Given the description of an element on the screen output the (x, y) to click on. 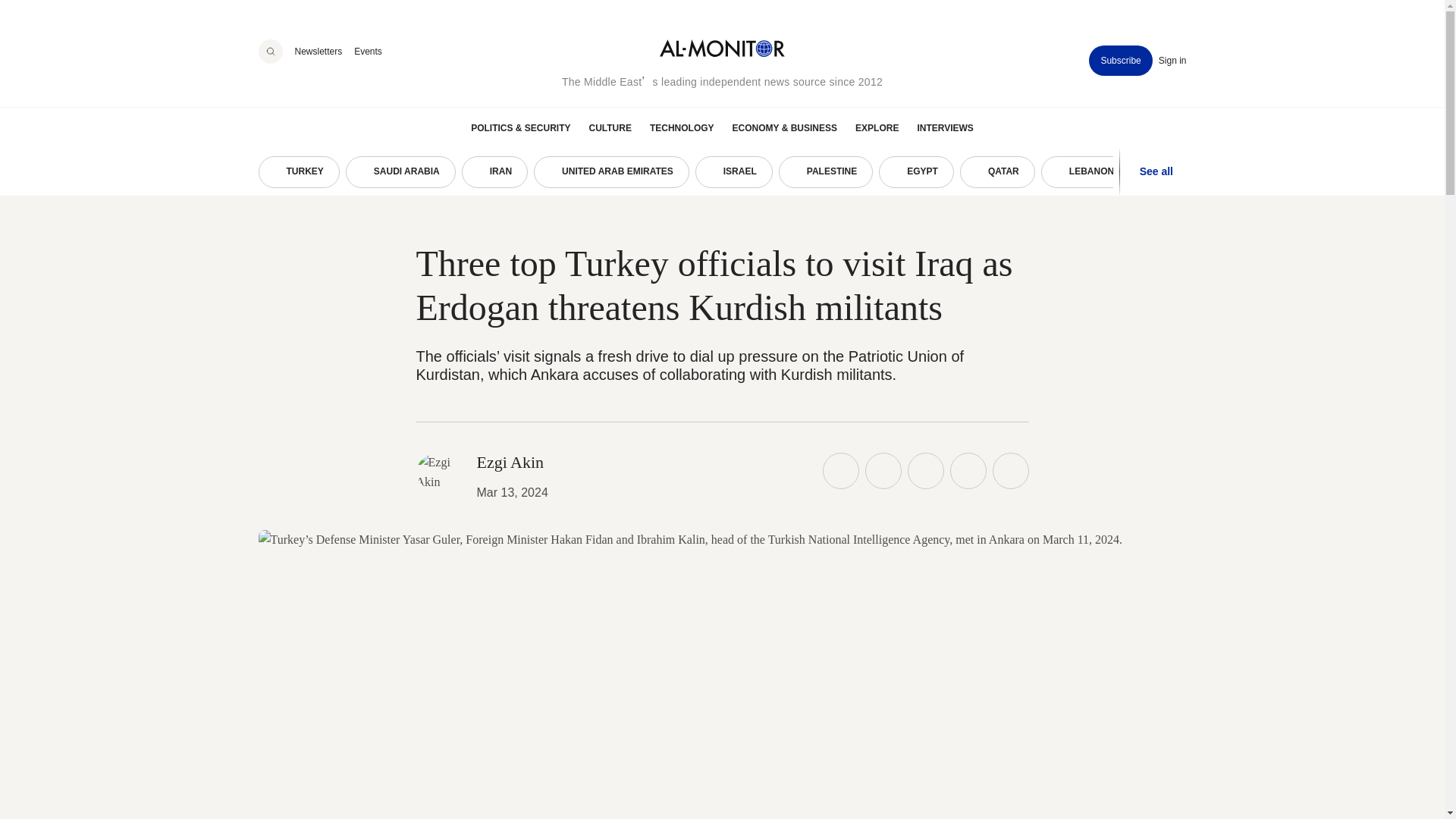
SAUDI ARABIA (400, 172)
PALESTINE (825, 172)
Events (367, 51)
IRAN (494, 172)
CULTURE (609, 127)
ISRAEL (734, 172)
Sign in (1172, 60)
TURKEY (298, 172)
INTERVIEWS (944, 127)
EGYPT (916, 172)
